Given the description of an element on the screen output the (x, y) to click on. 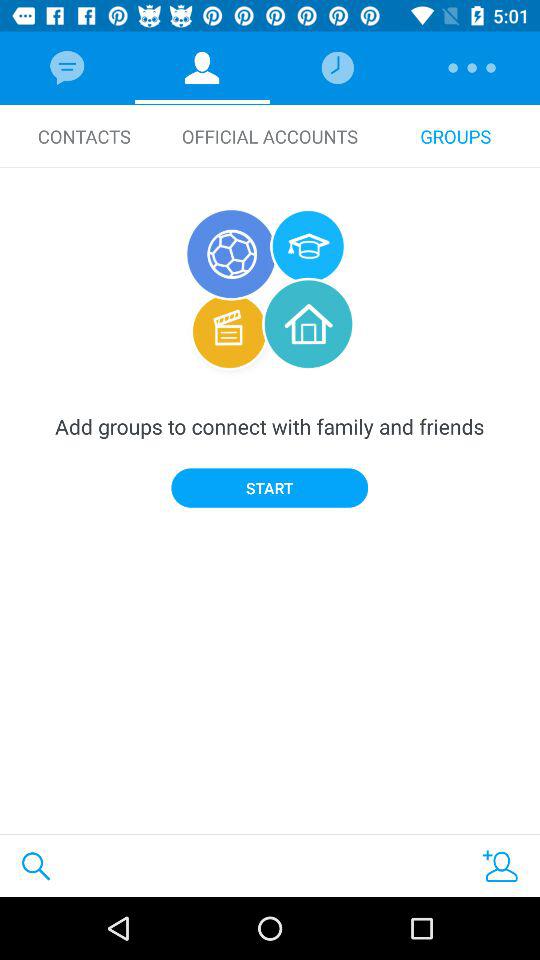
press the start item (269, 487)
